Given the description of an element on the screen output the (x, y) to click on. 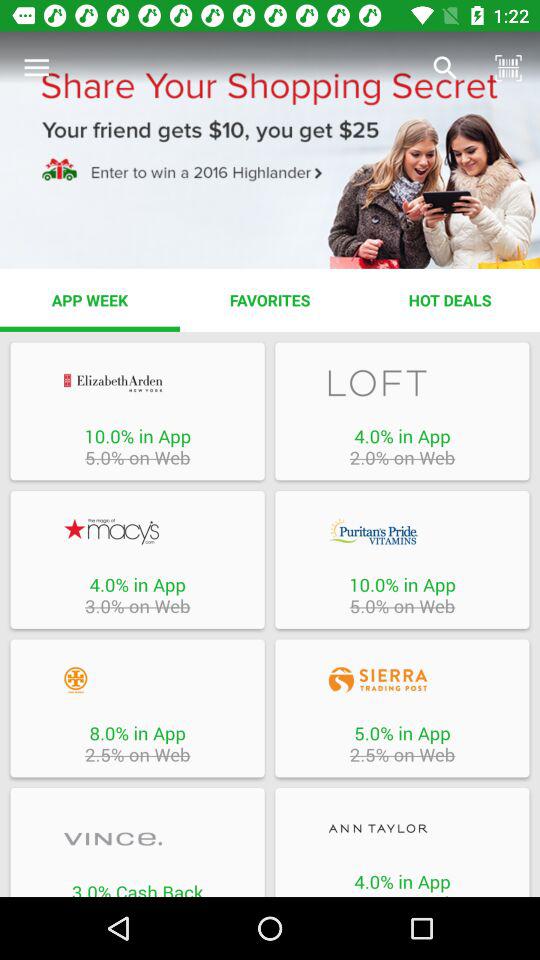
open ann taylor website (402, 828)
